Given the description of an element on the screen output the (x, y) to click on. 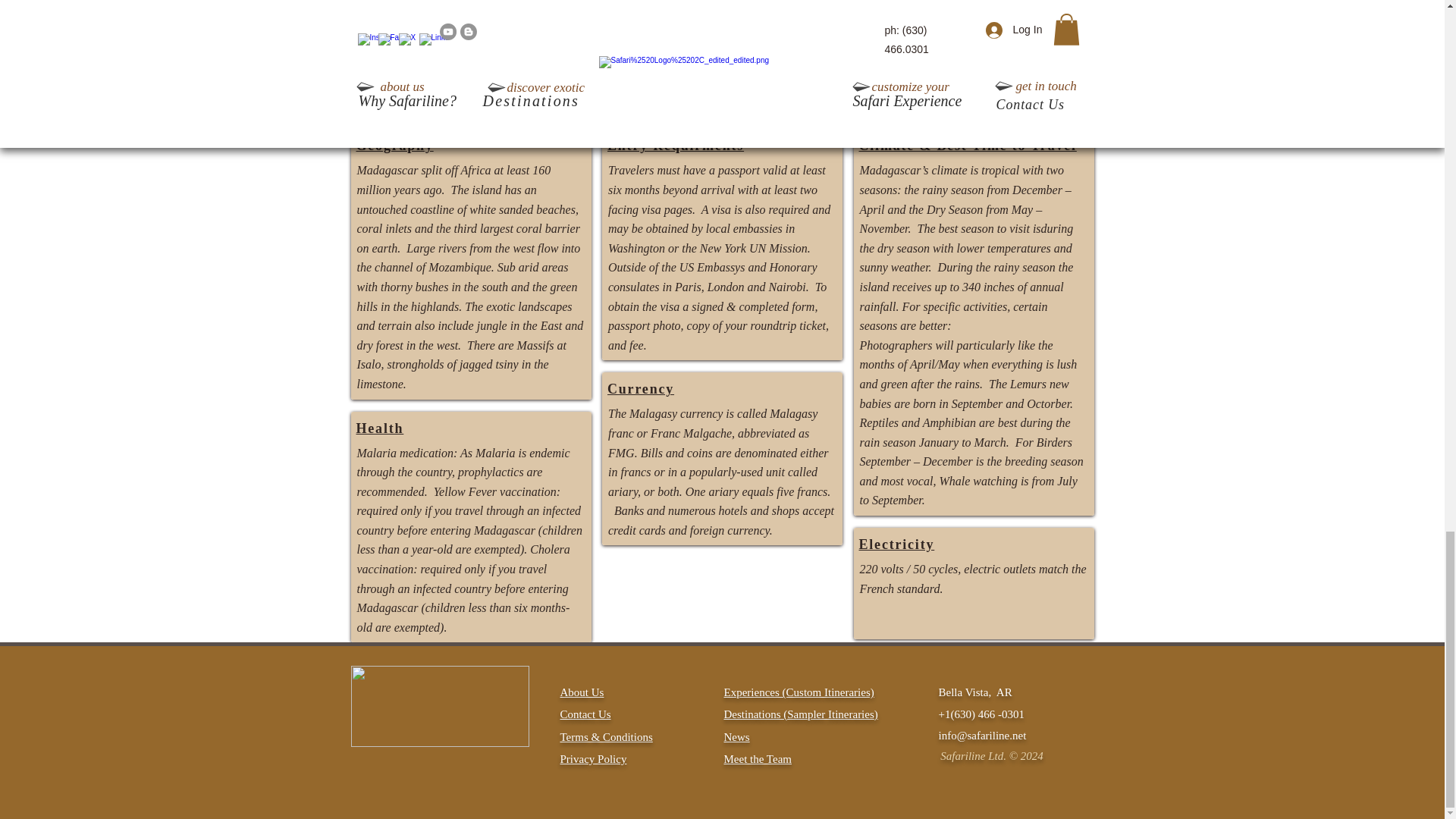
Bella Vista,  AR (975, 692)
News (736, 736)
Privacy Policy (592, 758)
About Us (581, 692)
Itineraries (851, 714)
Contact Us (584, 714)
Meet the Team (756, 758)
